Given the description of an element on the screen output the (x, y) to click on. 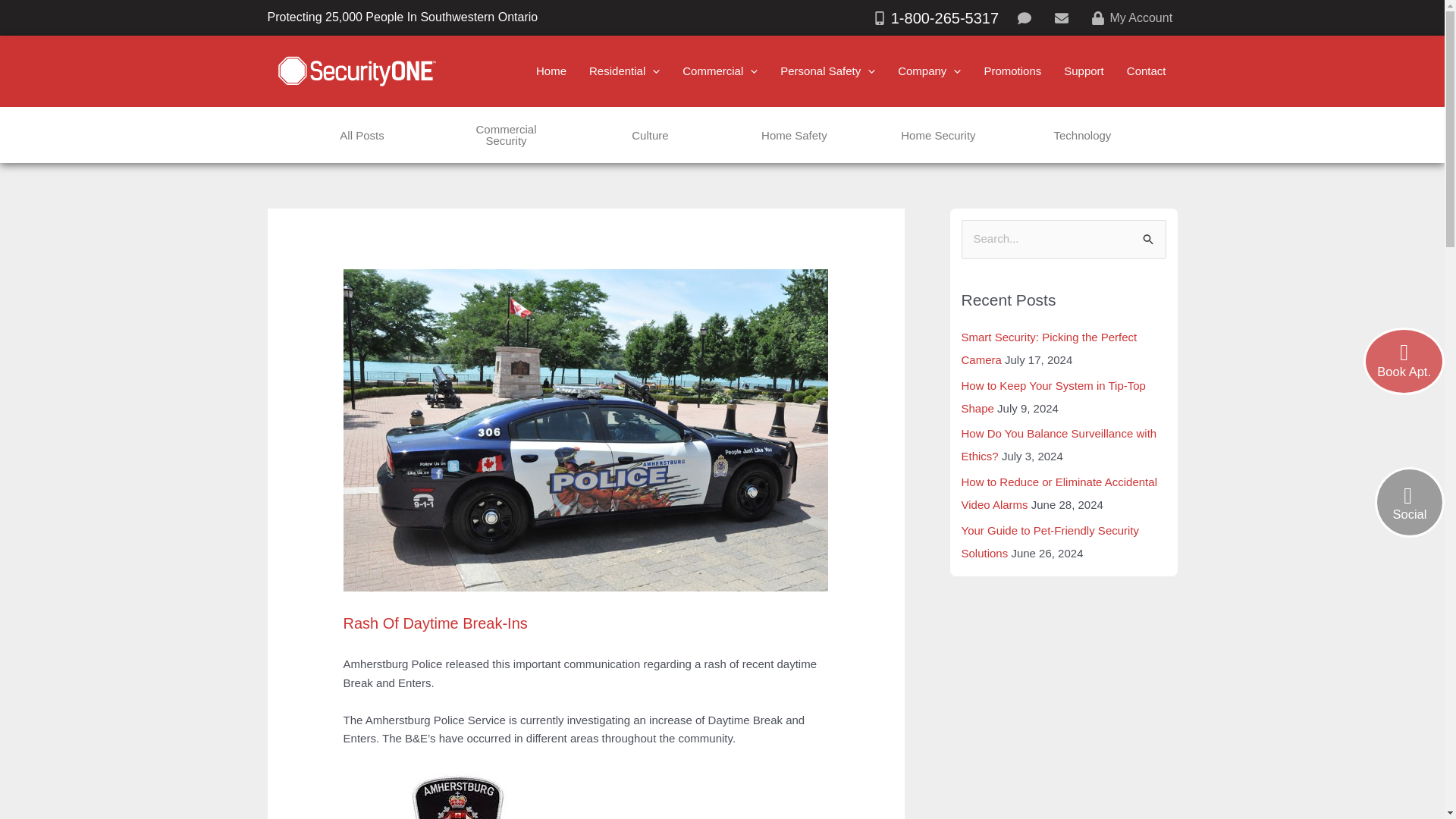
Commercial Security (505, 134)
Support (1083, 71)
Residential (624, 71)
Home (551, 71)
1-800-265-5317 (935, 17)
My Account (1131, 17)
All Posts (361, 134)
Search (1148, 235)
Personal Safety (827, 71)
Search (1148, 235)
Promotions (1012, 71)
Company (929, 71)
Contact (1146, 71)
Commercial (719, 71)
